Given the description of an element on the screen output the (x, y) to click on. 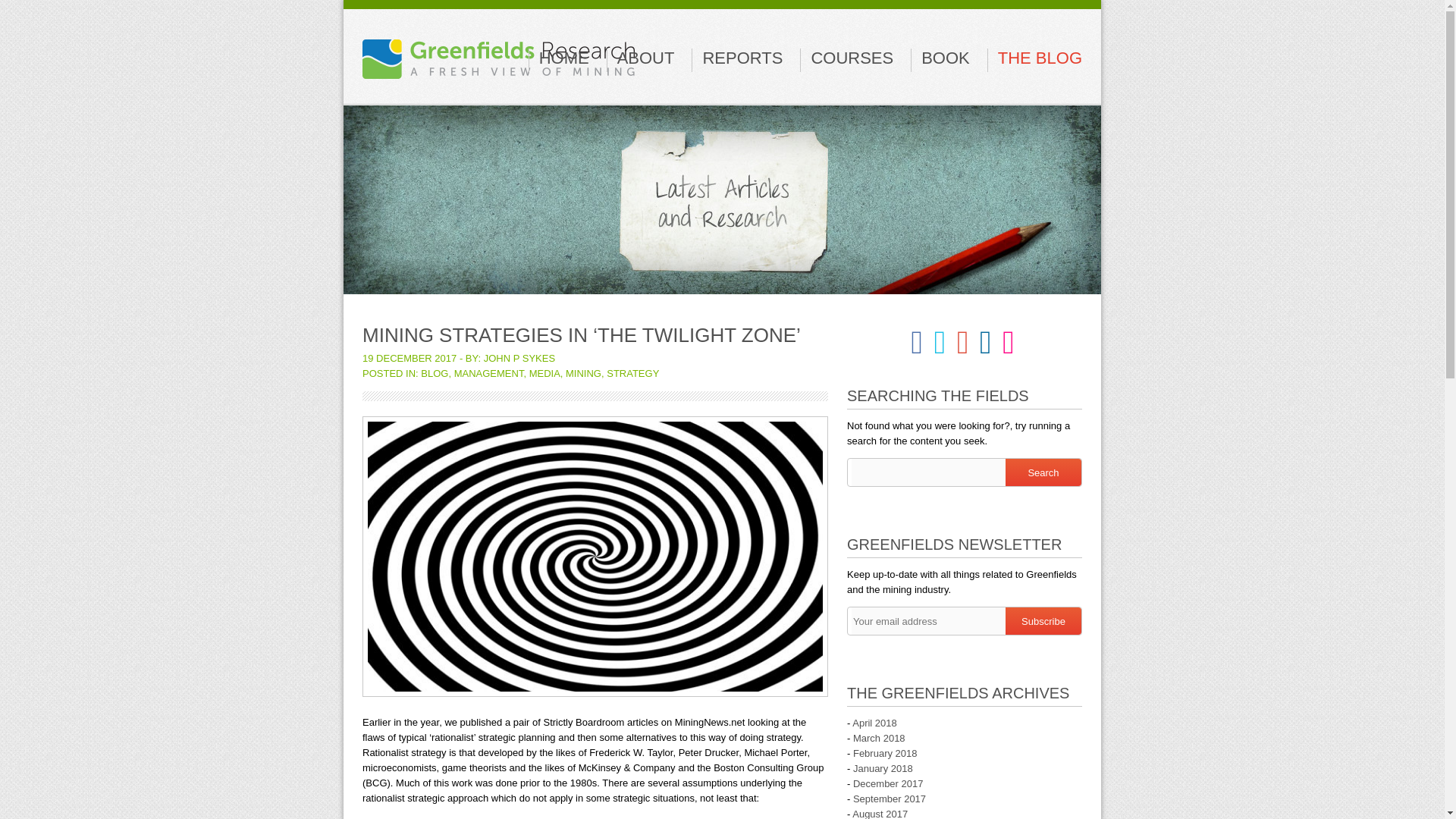
BOOK (945, 57)
MANAGEMENT (489, 373)
COURSES (851, 57)
MINING (583, 373)
ABOUT (646, 57)
REPORTS (742, 57)
STRATEGY (633, 373)
THE BLOG (1039, 57)
GREENFIELDS RESEARCH (498, 51)
Search (1043, 472)
BLOG (434, 373)
Return to our home page (498, 51)
MEDIA (544, 373)
Subscribe (1043, 620)
HOME (563, 57)
